Given the description of an element on the screen output the (x, y) to click on. 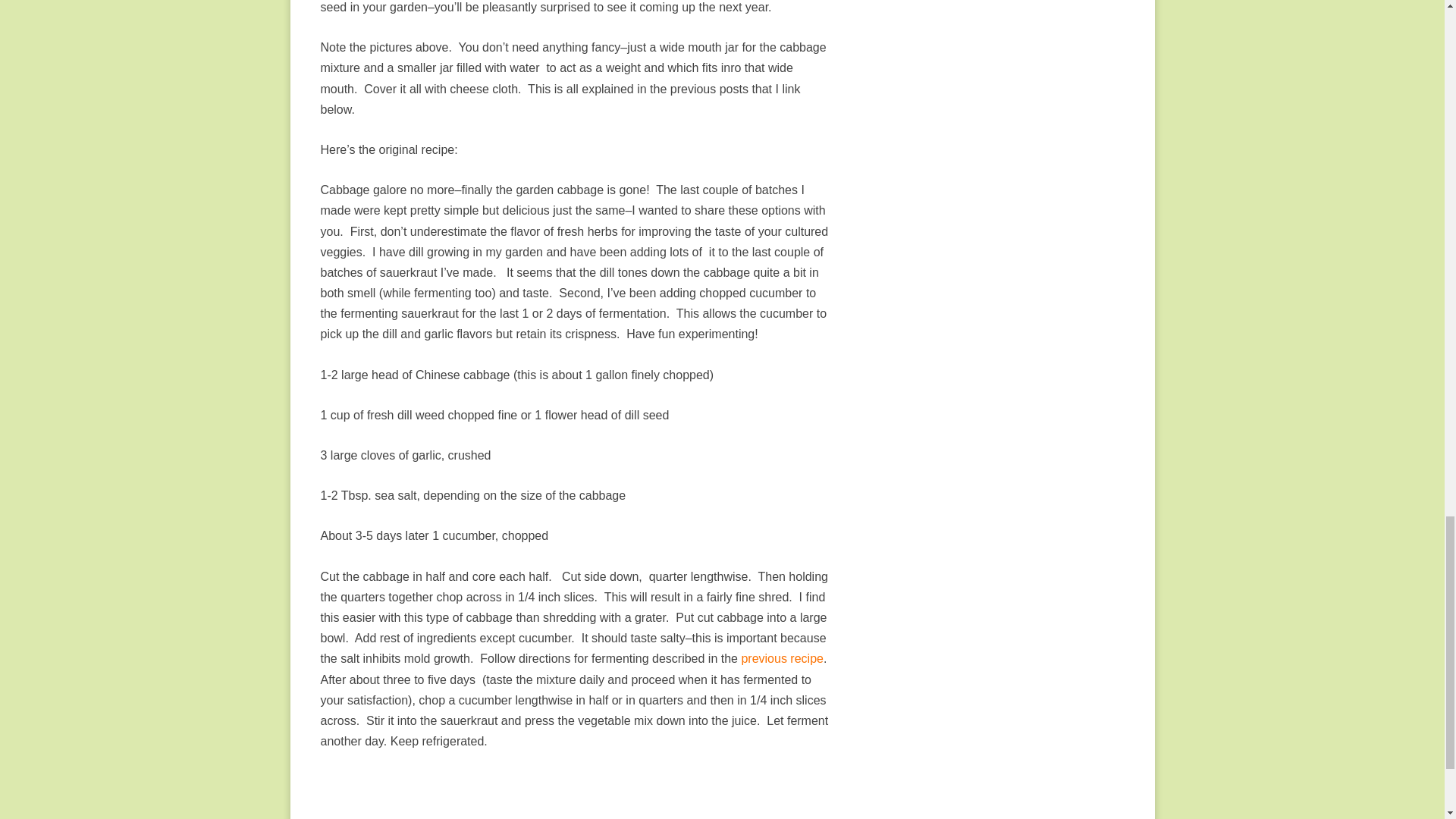
previous recipe (781, 658)
